Given the description of an element on the screen output the (x, y) to click on. 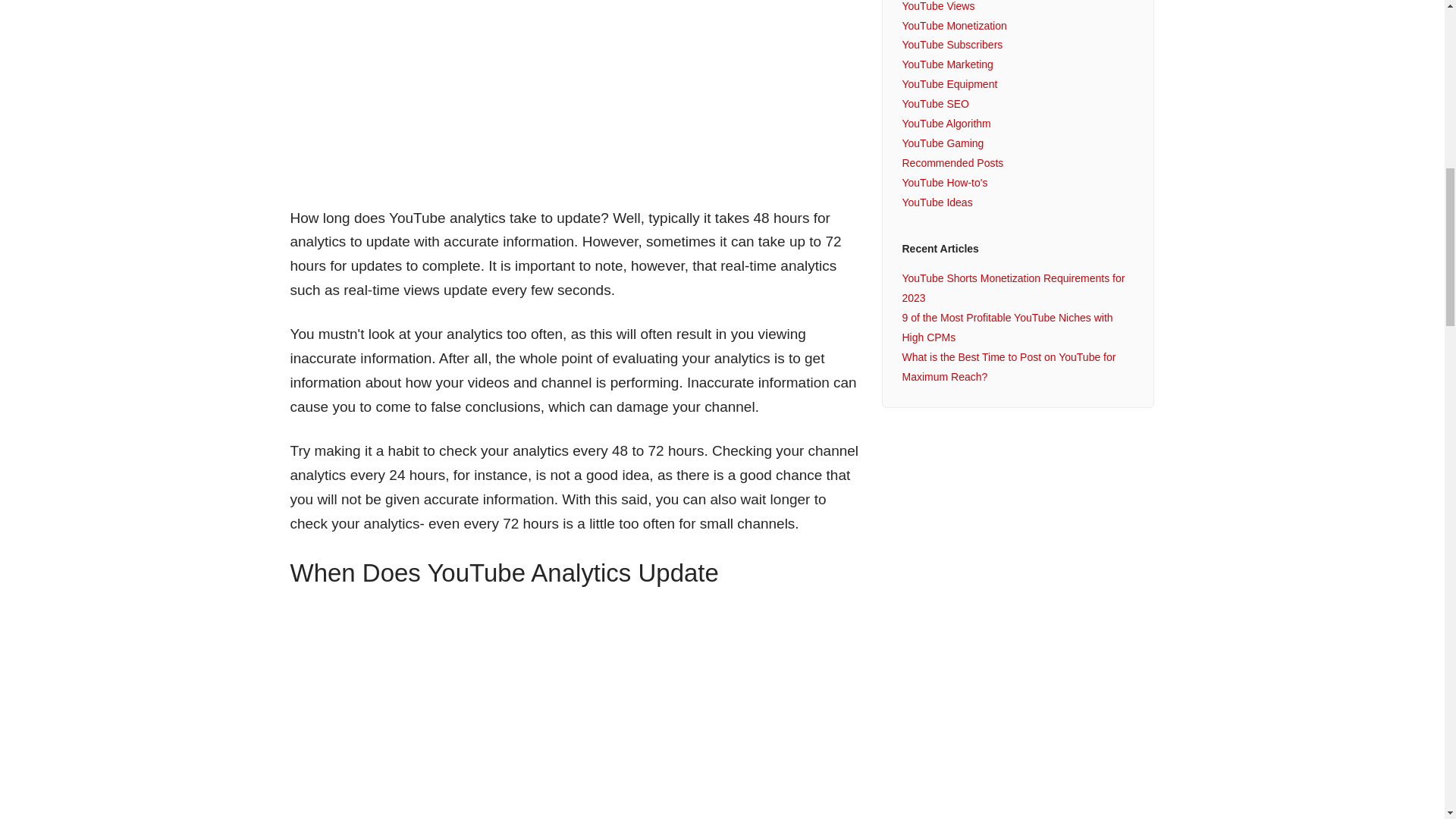
YouTube How-to's (944, 182)
YouTube Views (937, 6)
What is the Best Time to Post on YouTube for Maximum Reach? (1008, 367)
YouTube Ideas (936, 202)
Recommended Posts (952, 162)
YouTube Marketing (946, 64)
YouTube Gaming (942, 143)
YouTube Monetization (953, 25)
YouTube Shorts Monetization Requirements for 2023 (1012, 287)
9 of the Most Profitable YouTube Niches with High CPMs (1006, 327)
YouTube SEO (934, 103)
YouTube Algorithm (945, 123)
YouTube Equipment (949, 83)
YouTube Subscribers (952, 44)
